Given the description of an element on the screen output the (x, y) to click on. 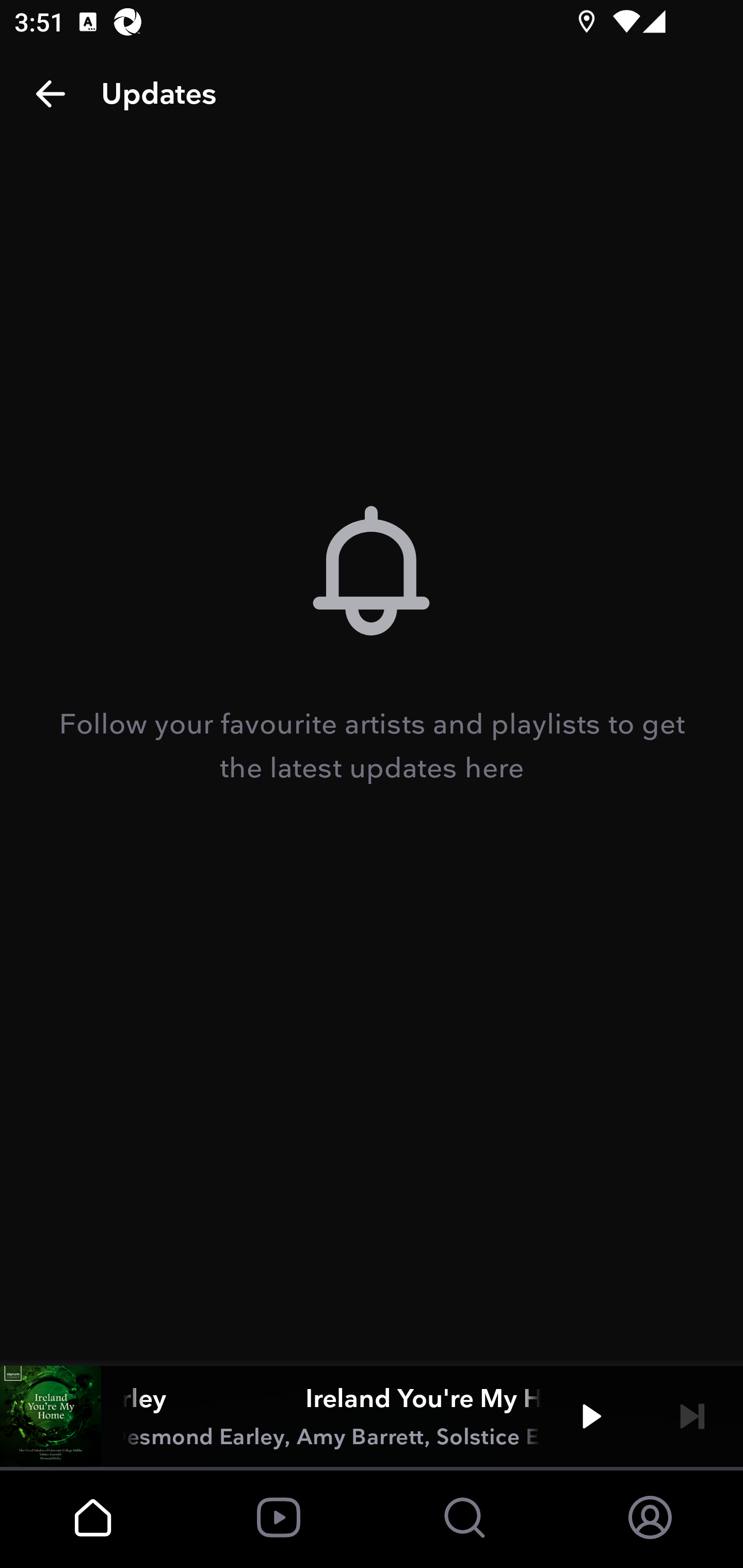
Play (590, 1416)
